Given the description of an element on the screen output the (x, y) to click on. 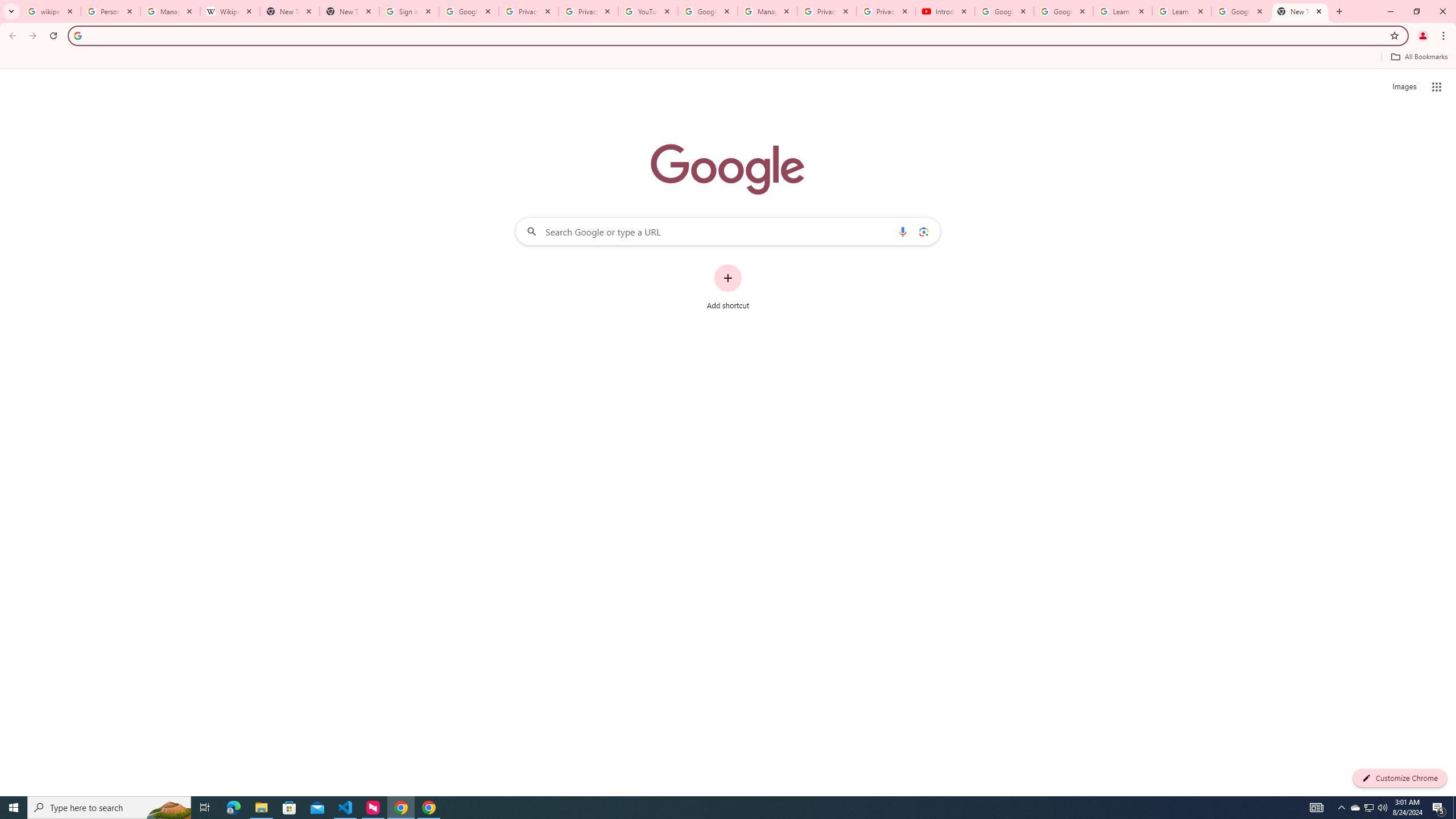
Search icon (77, 35)
Manage your Location History - Google Search Help (170, 11)
Google Account Help (707, 11)
Google Account (1241, 11)
Search by voice (902, 230)
